Given the description of an element on the screen output the (x, y) to click on. 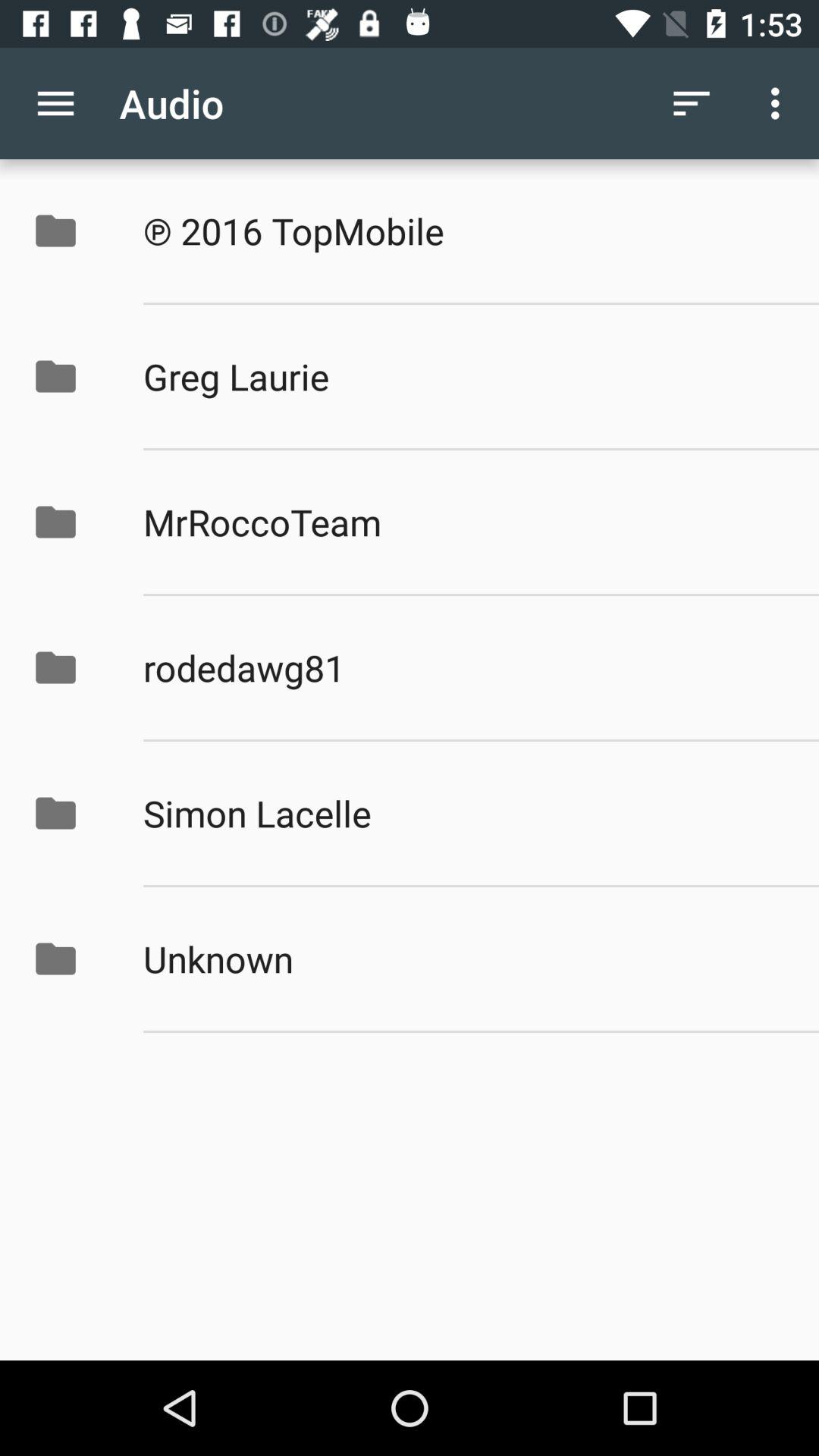
press the unknown icon (465, 958)
